Given the description of an element on the screen output the (x, y) to click on. 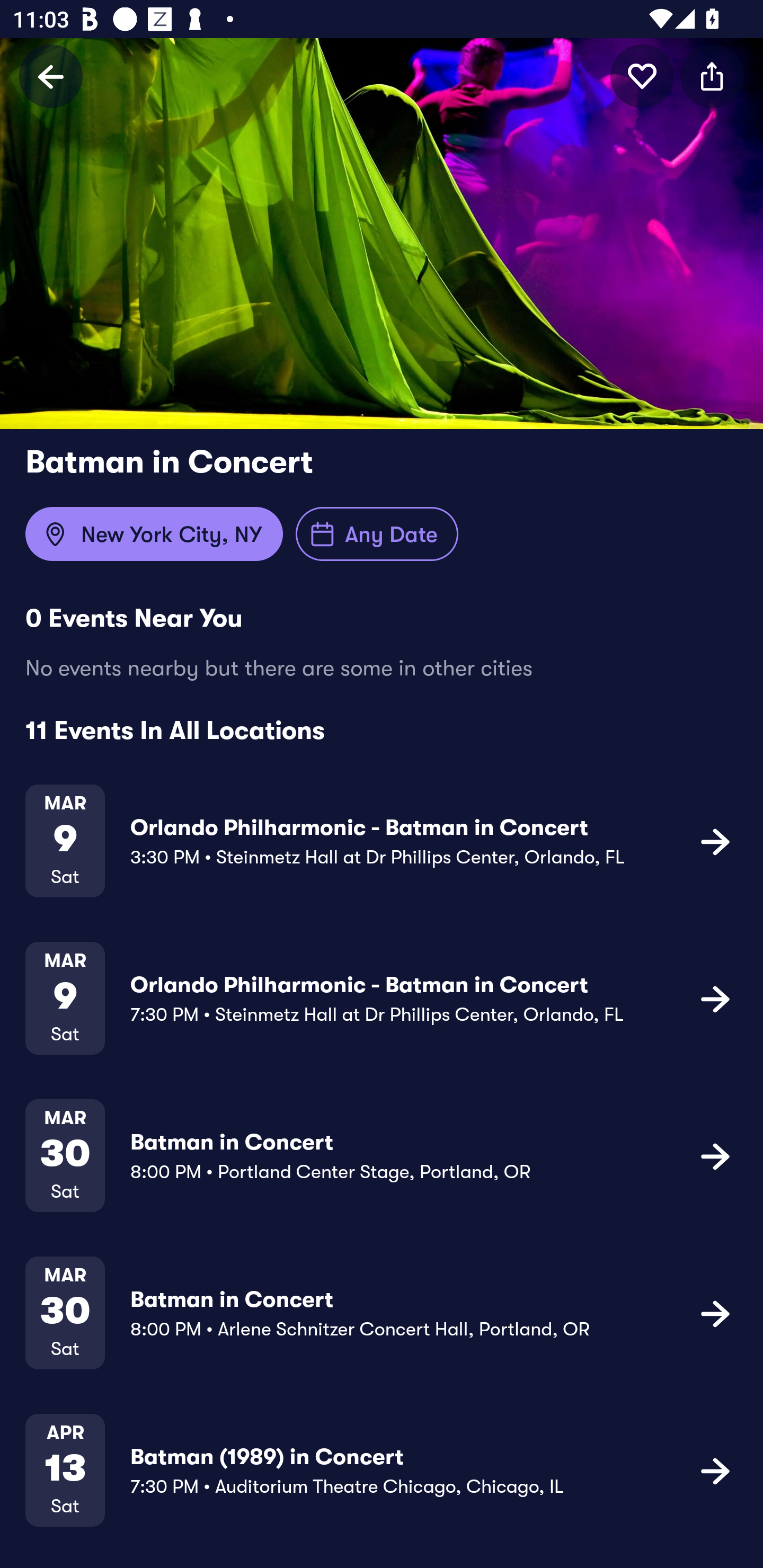
Back (50, 75)
icon button (641, 75)
icon button (711, 75)
New York City, NY (153, 533)
Any Date (377, 533)
icon button (714, 840)
icon button (714, 998)
icon button (714, 1155)
icon button (714, 1312)
icon button (714, 1470)
